Given the description of an element on the screen output the (x, y) to click on. 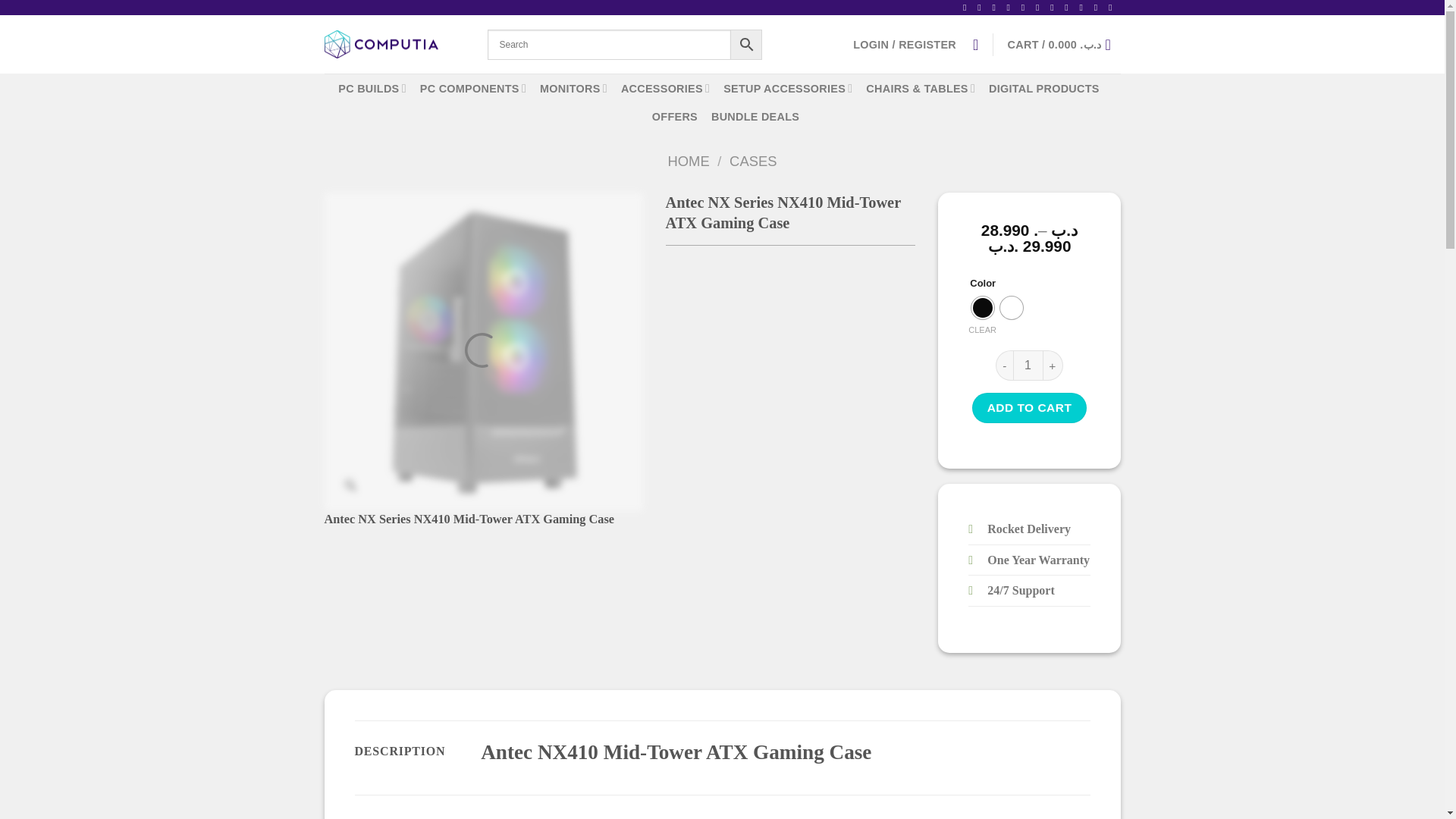
Send us an email (1026, 7)
Follow on LinkedIn (1069, 7)
Follow on VKontakte (1113, 7)
Follow on TikTok (996, 7)
Flickr (1098, 7)
ACCESSORIES (665, 88)
Computia - Computia (381, 44)
Cart (1064, 43)
PC COMPONENTS (472, 88)
1 (1028, 365)
Login (904, 43)
Follow on YouTube (1084, 7)
Follow on Pinterest (1054, 7)
Follow on Instagram (981, 7)
- (1003, 365)
